Given the description of an element on the screen output the (x, y) to click on. 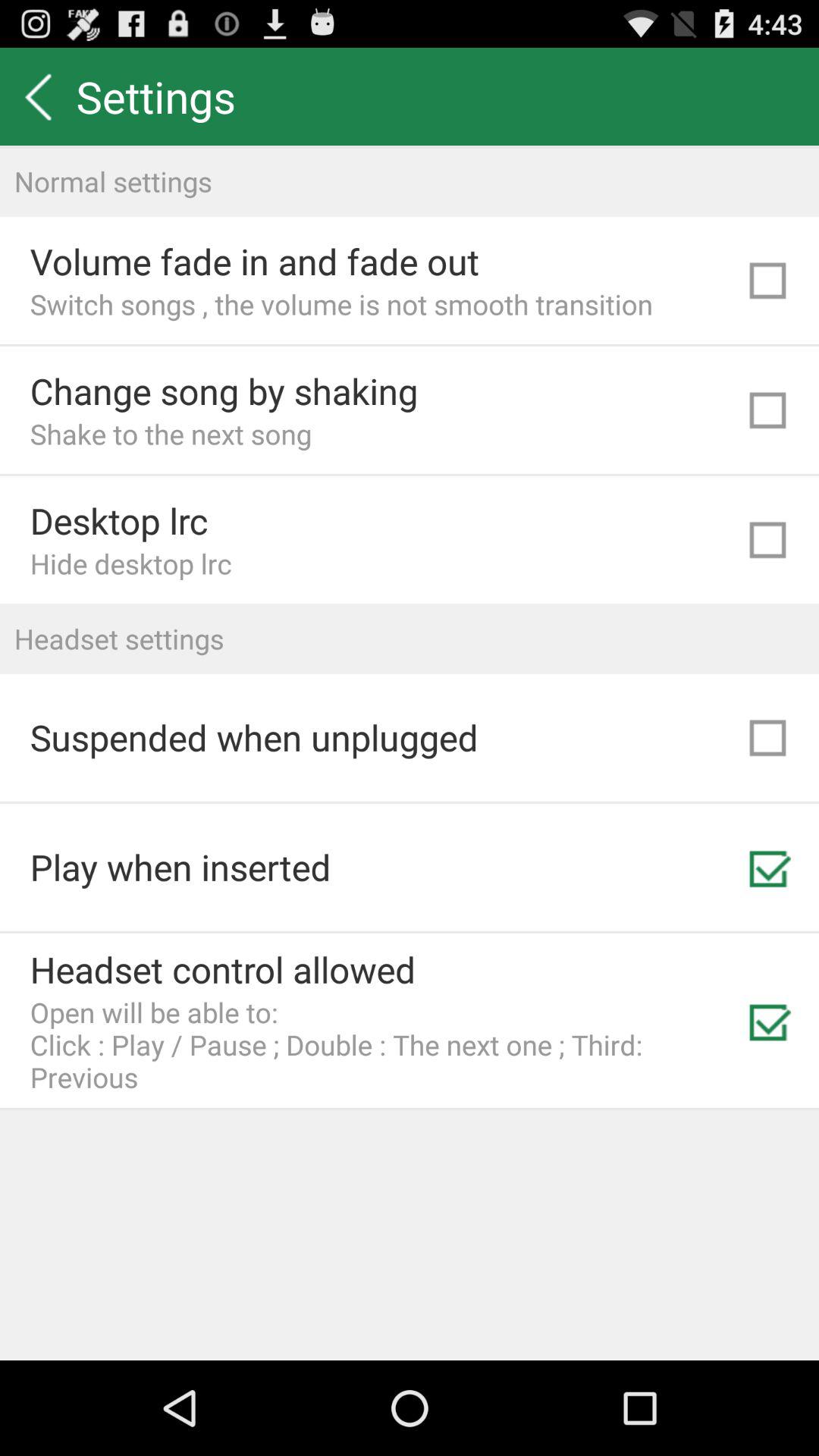
press item below volume fade in app (341, 304)
